Given the description of an element on the screen output the (x, y) to click on. 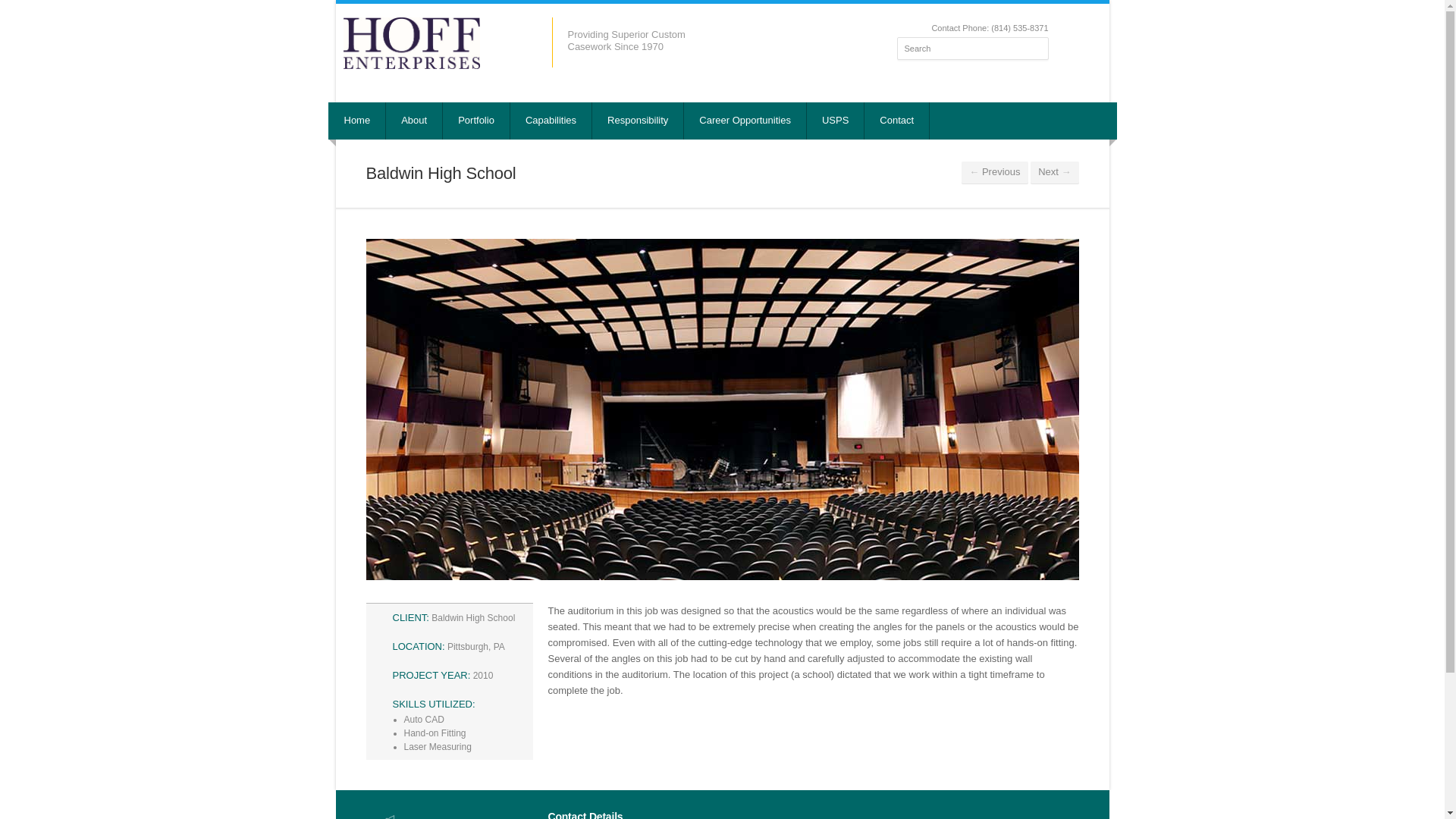
Career Opportunities (745, 120)
Capabilities (551, 120)
Search (972, 47)
Portfolio (476, 120)
Contact (897, 120)
Home (358, 120)
Search (972, 47)
USPS (835, 120)
Responsibility (638, 120)
